Given the description of an element on the screen output the (x, y) to click on. 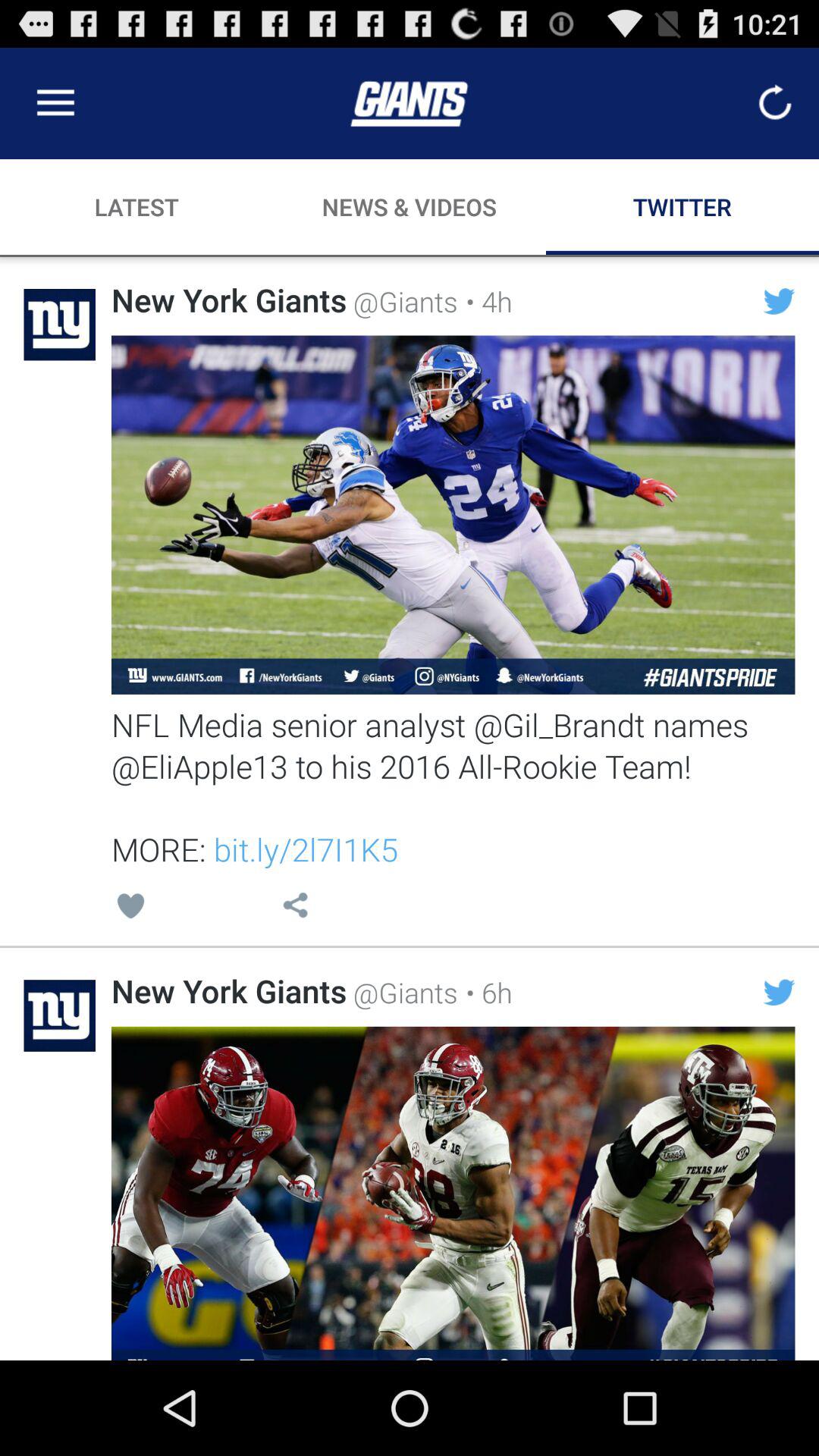
turn off icon below nfl media senior icon (484, 992)
